Given the description of an element on the screen output the (x, y) to click on. 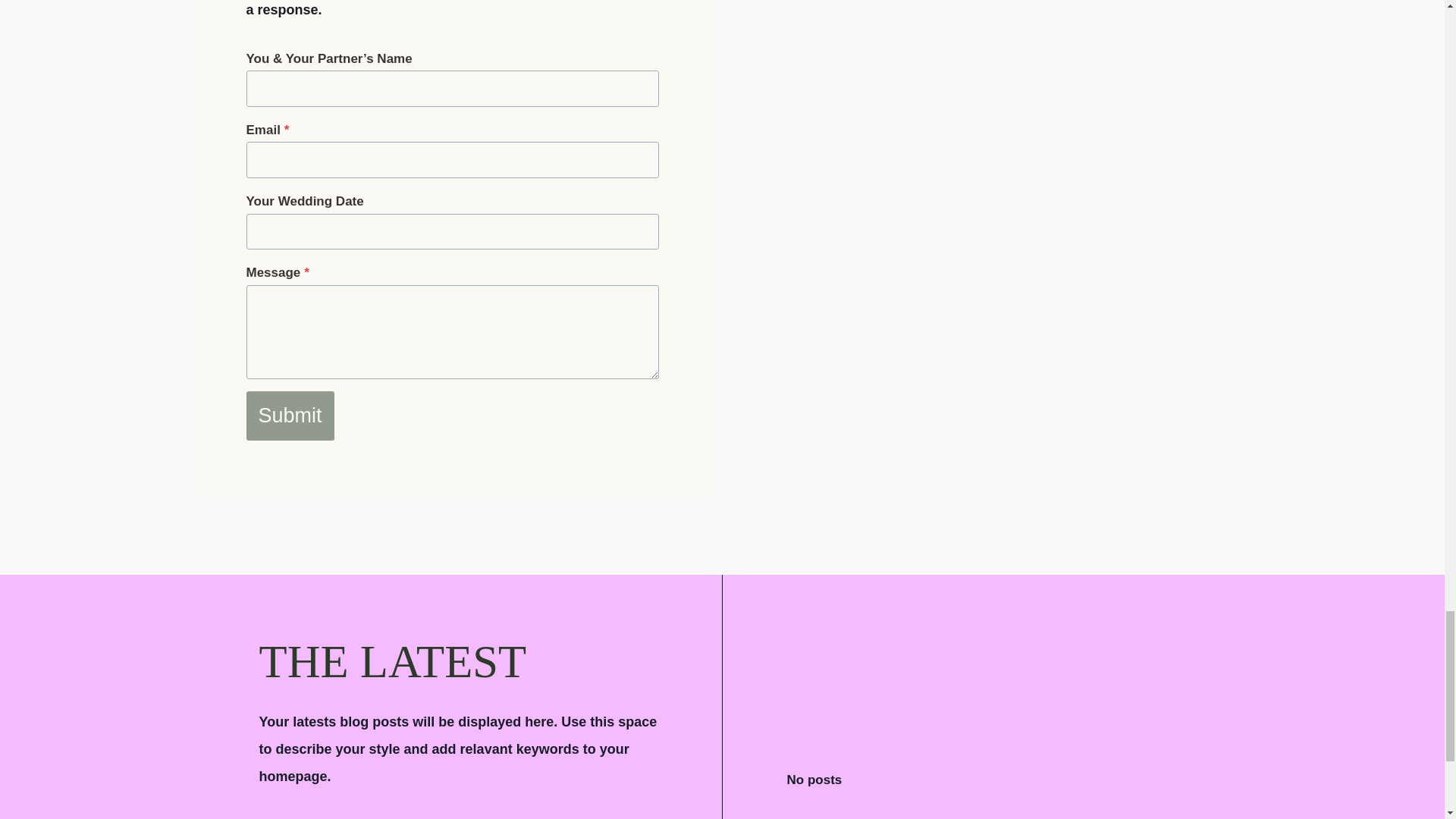
Submit (289, 415)
